Given the description of an element on the screen output the (x, y) to click on. 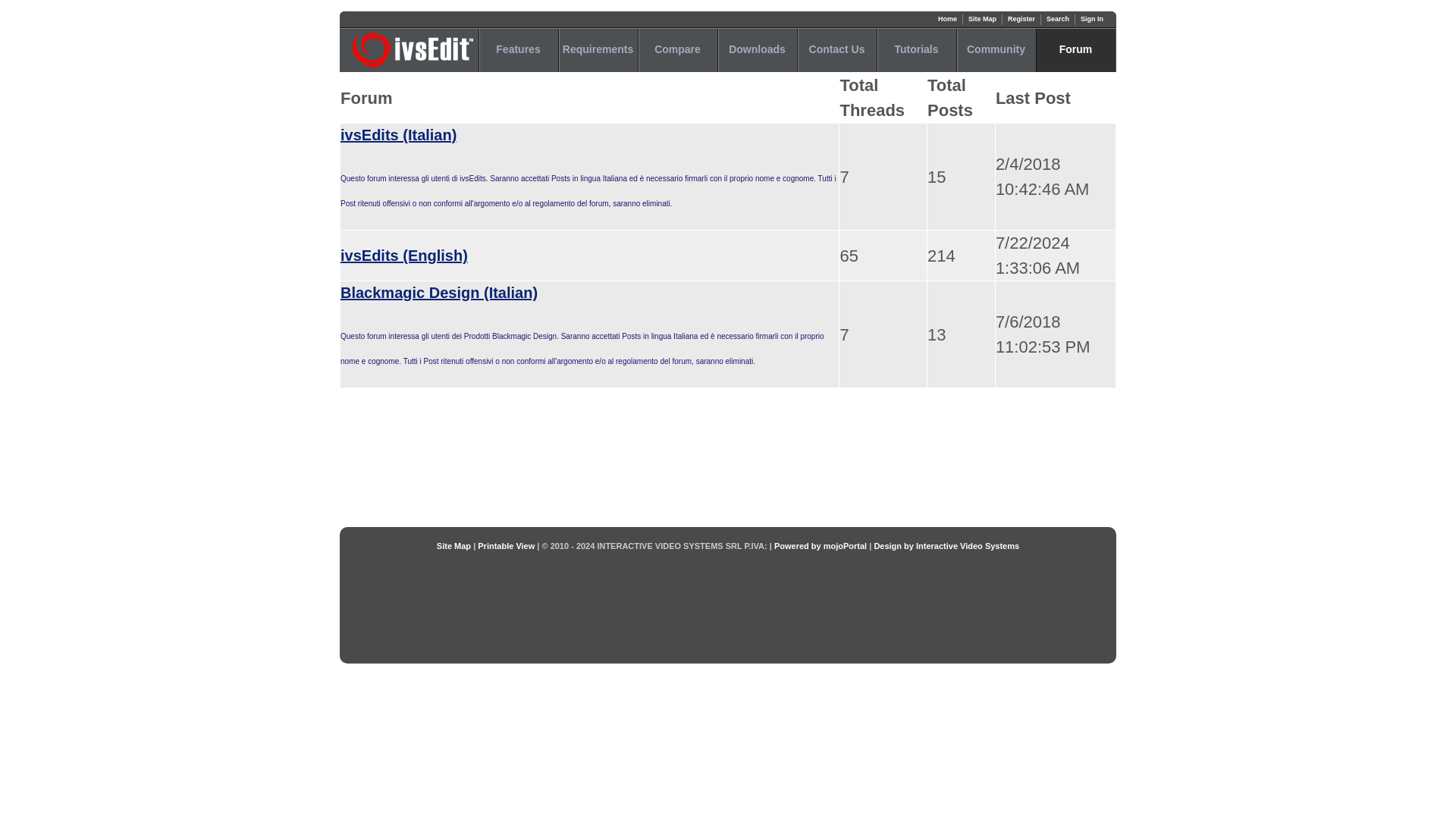
Sign In (1091, 18)
Forum (1075, 50)
Tutorials (916, 50)
Features (518, 50)
Search (1057, 18)
Design by Interactive Video Systems (946, 545)
Visit the web site of the designer (946, 545)
Site Map (453, 545)
Home (946, 18)
Printable View (505, 545)
Contact Us (836, 50)
Powered by mojoPortal (820, 545)
Compare (677, 50)
Community (995, 50)
Downloads (756, 50)
